Given the description of an element on the screen output the (x, y) to click on. 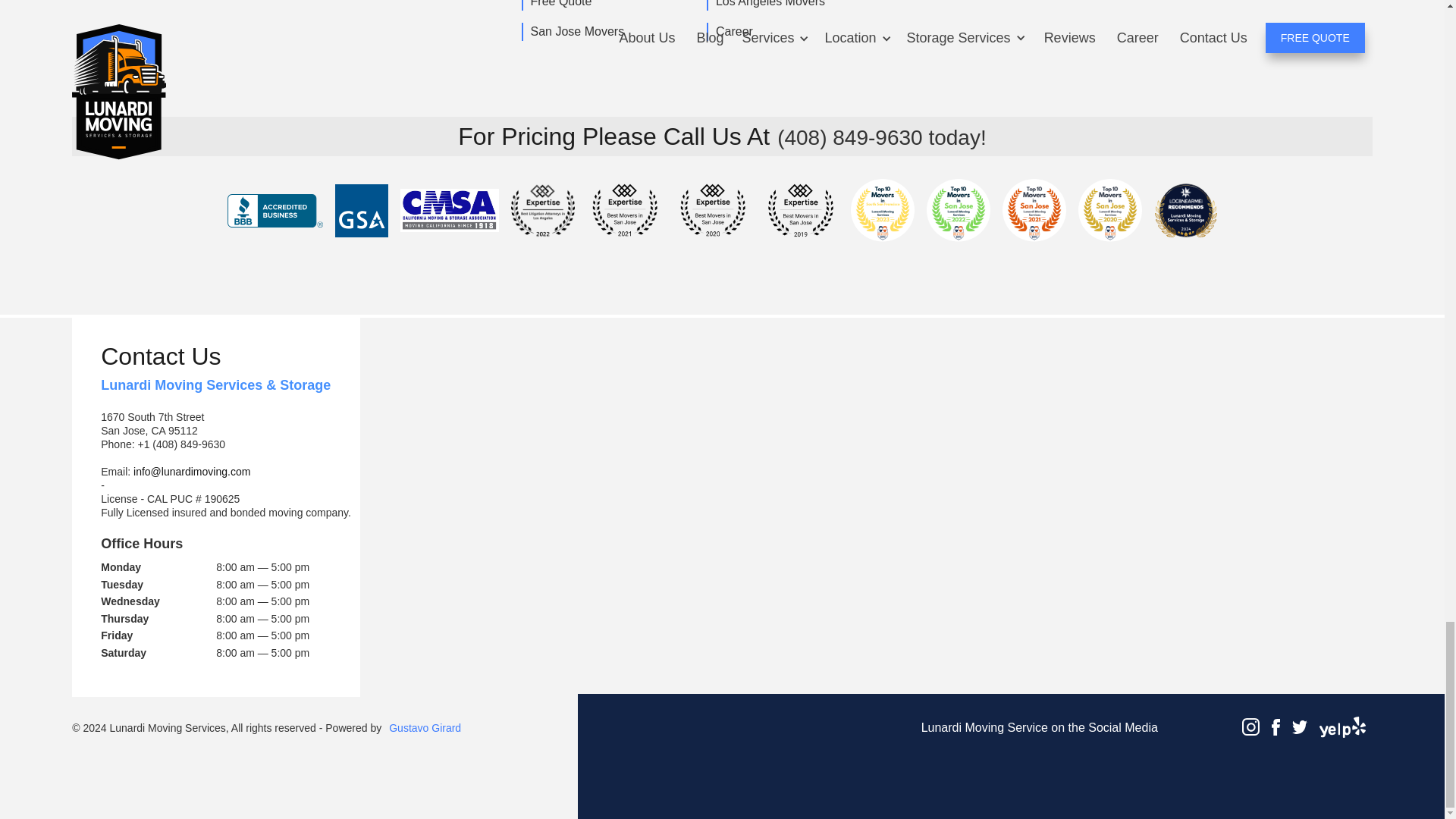
Free Quote (560, 5)
San Jose Movers (576, 31)
Los Angeles Movers (769, 5)
Career (733, 31)
